Given the description of an element on the screen output the (x, y) to click on. 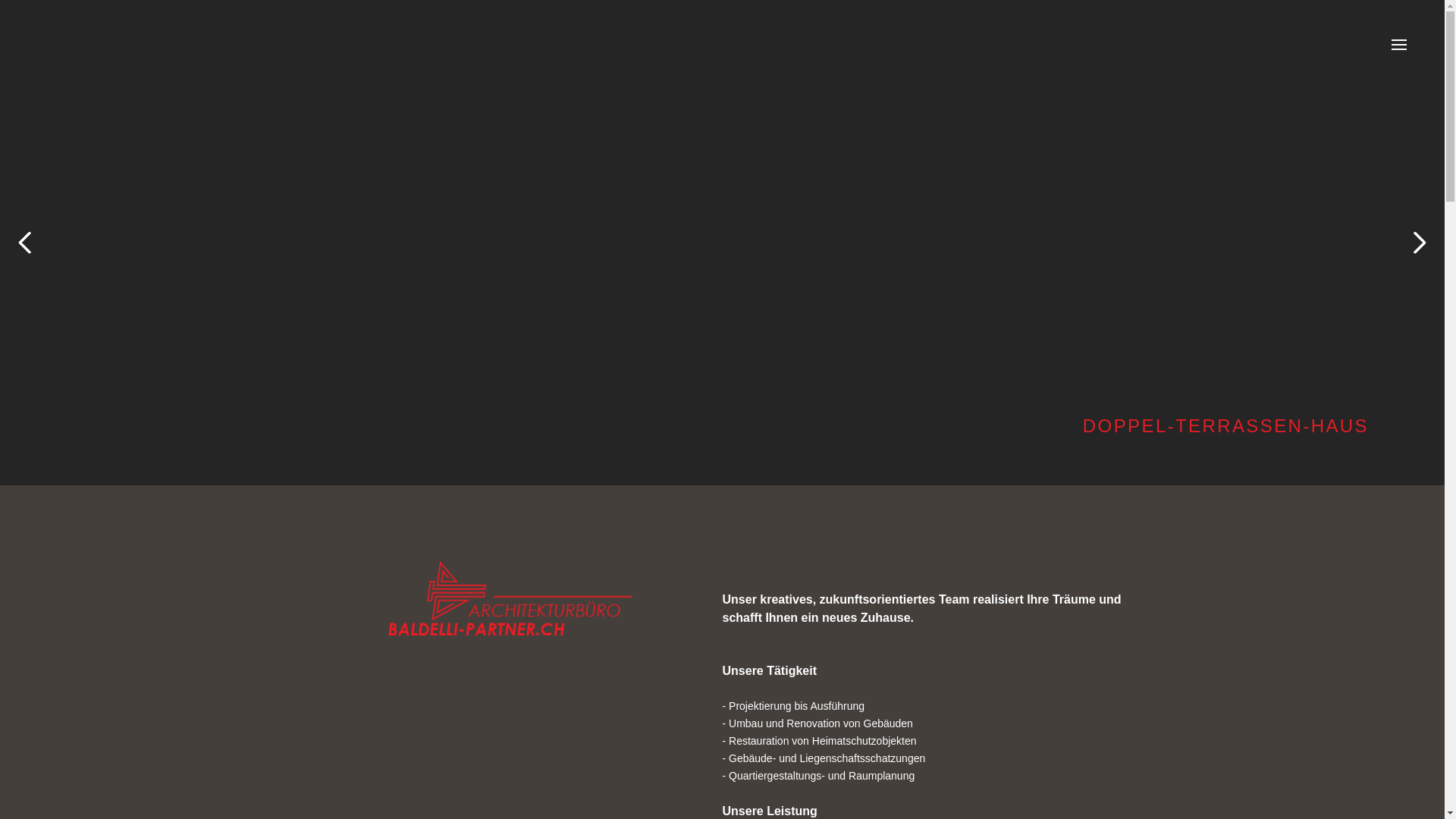
DOPPEL-TERRASSEN-HAUS Element type: text (722, 242)
